Given the description of an element on the screen output the (x, y) to click on. 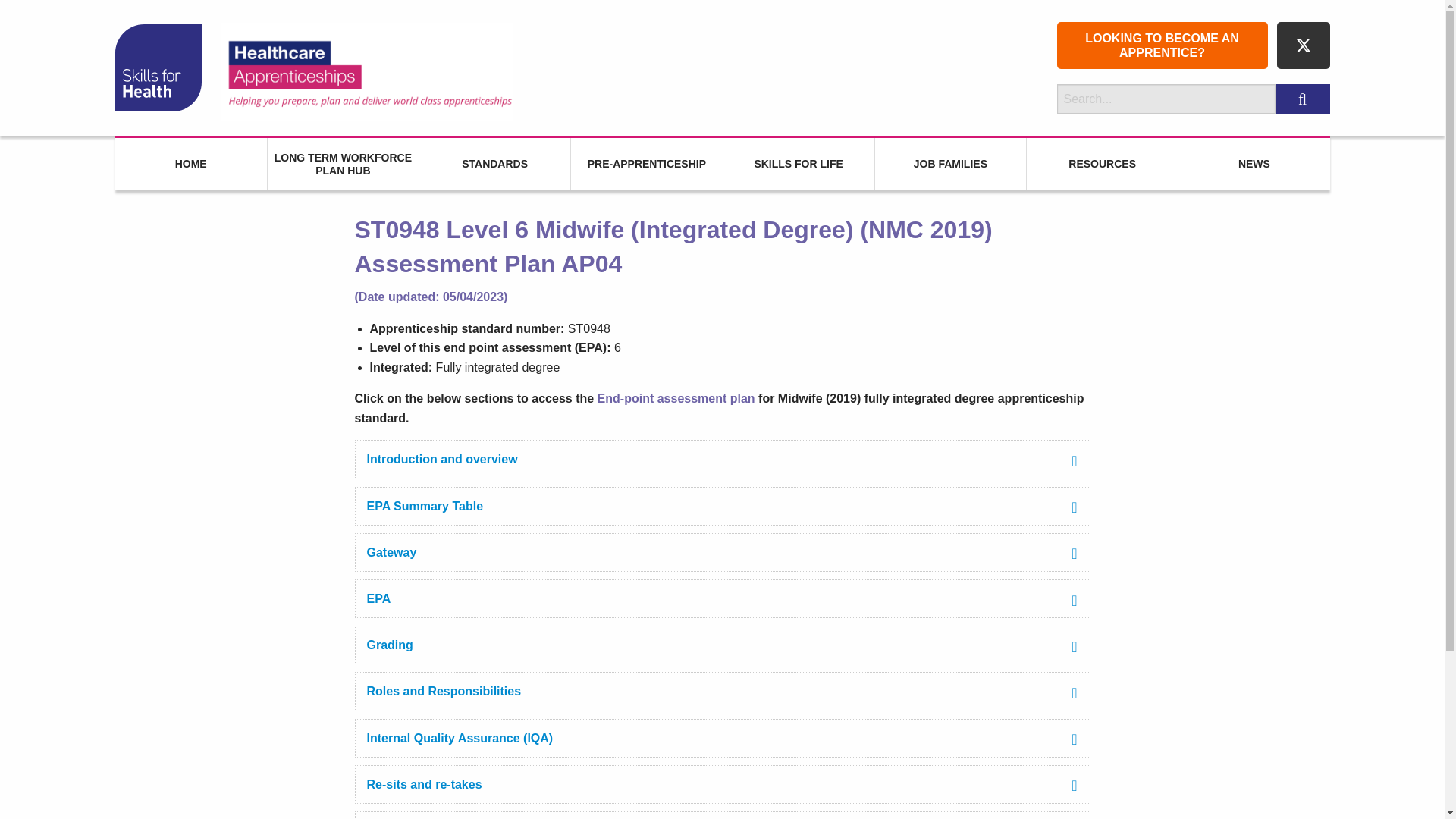
LOOKING TO BECOME AN APPRENTICE? (1162, 45)
HOME (190, 164)
PRE-APPRENTICESHIP (646, 164)
SKILLS FOR LIFE (799, 164)
STANDARDS (494, 164)
Search for: (1166, 98)
JOB FAMILIES (950, 164)
LONG TERM WORKFORCE PLAN HUB (343, 164)
